Given the description of an element on the screen output the (x, y) to click on. 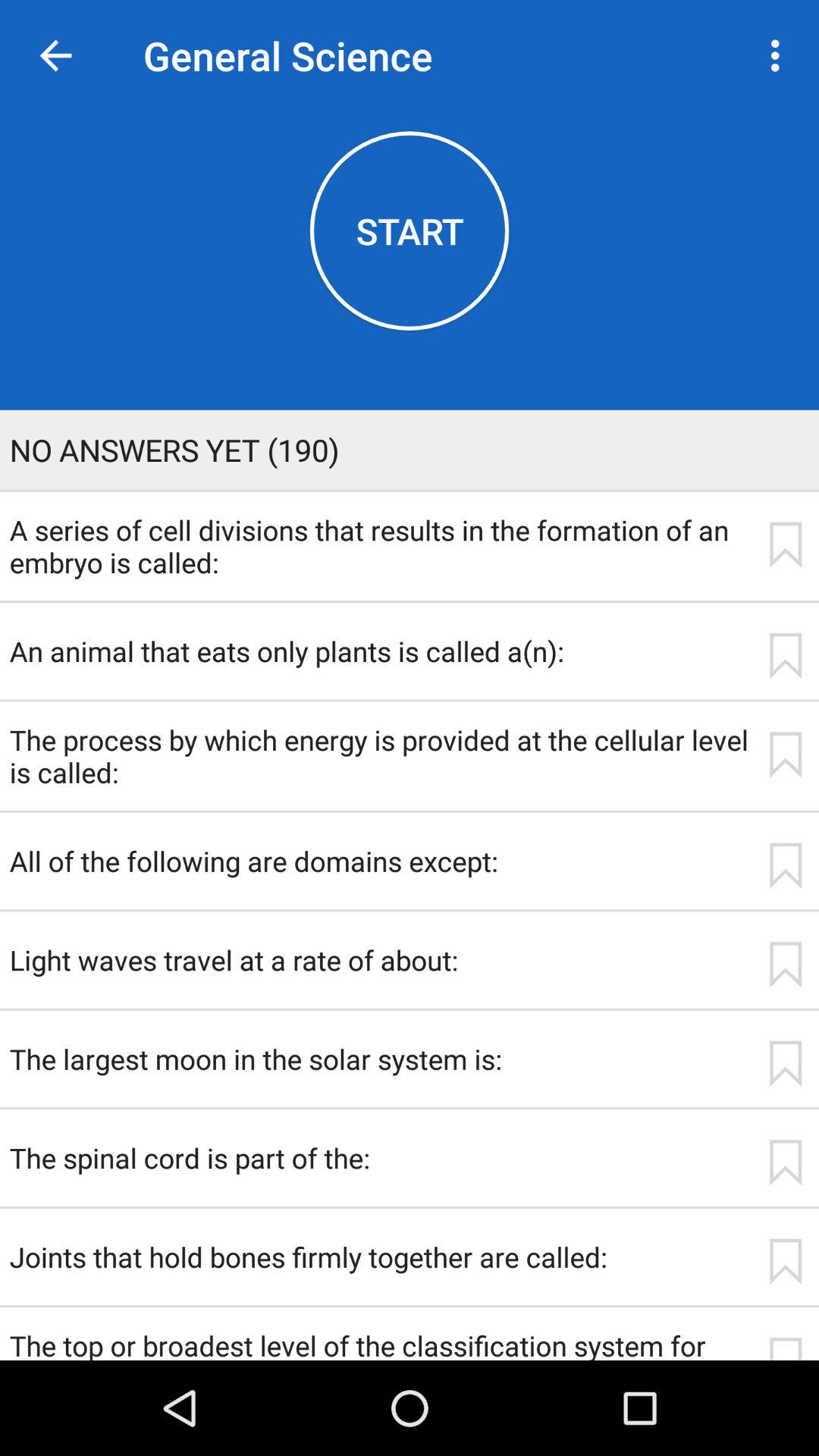
choose app next to light waves travel icon (784, 964)
